Given the description of an element on the screen output the (x, y) to click on. 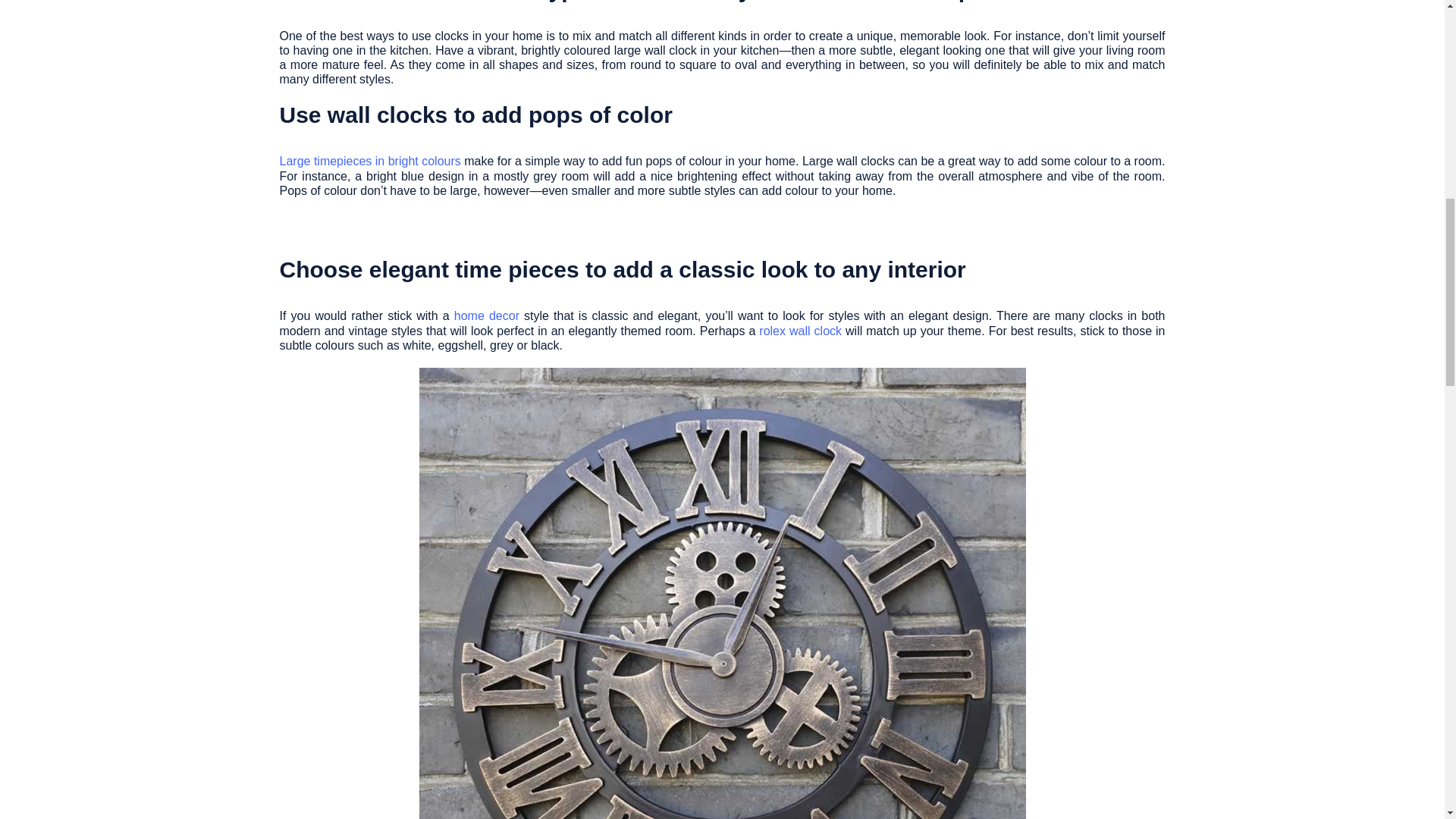
home decor (486, 315)
Large timepieces in bright colours (369, 160)
rolex wall clock (799, 330)
